Given the description of an element on the screen output the (x, y) to click on. 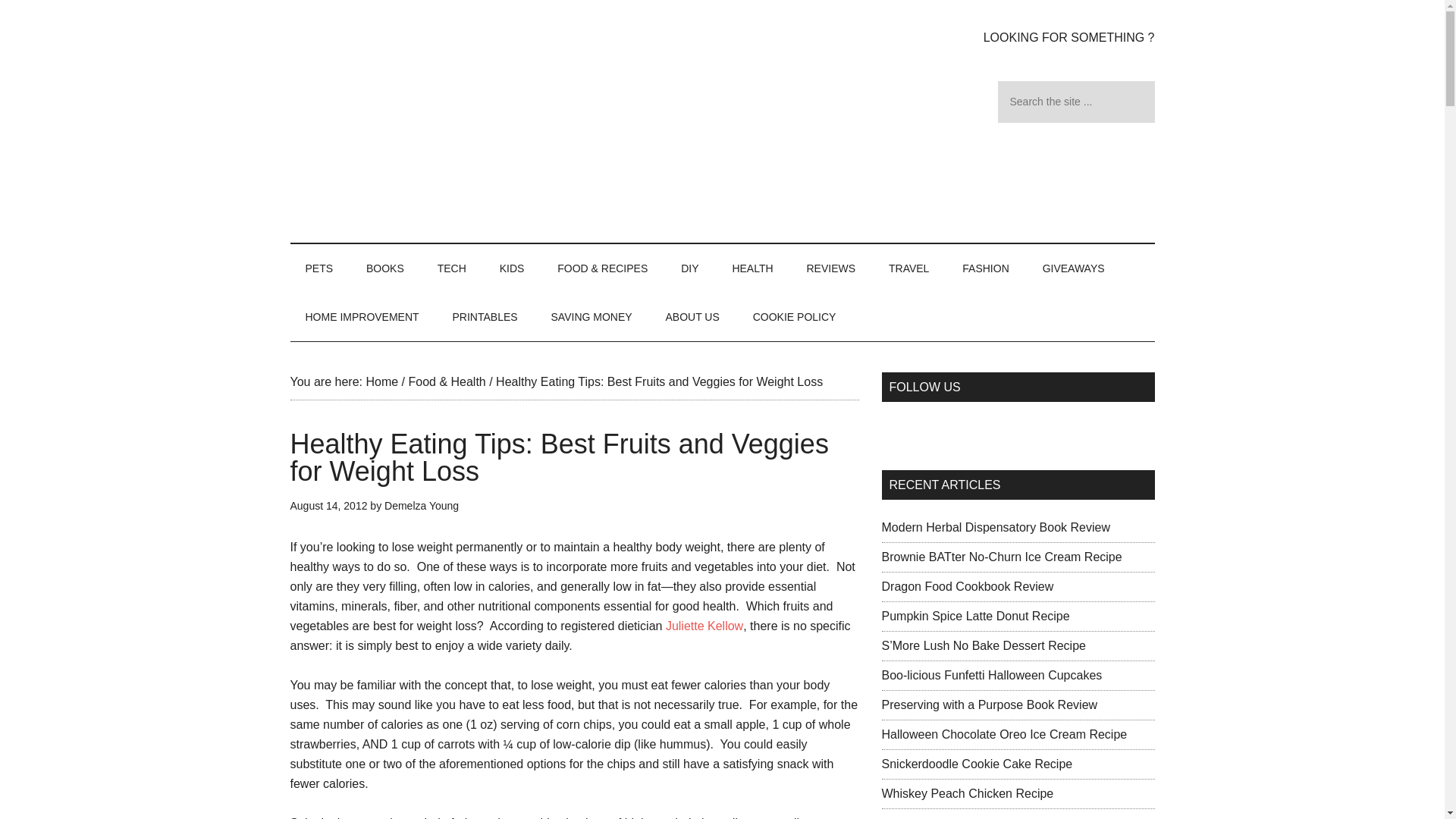
Budget Earth (433, 121)
PETS (318, 268)
BOOKS (384, 268)
